Given the description of an element on the screen output the (x, y) to click on. 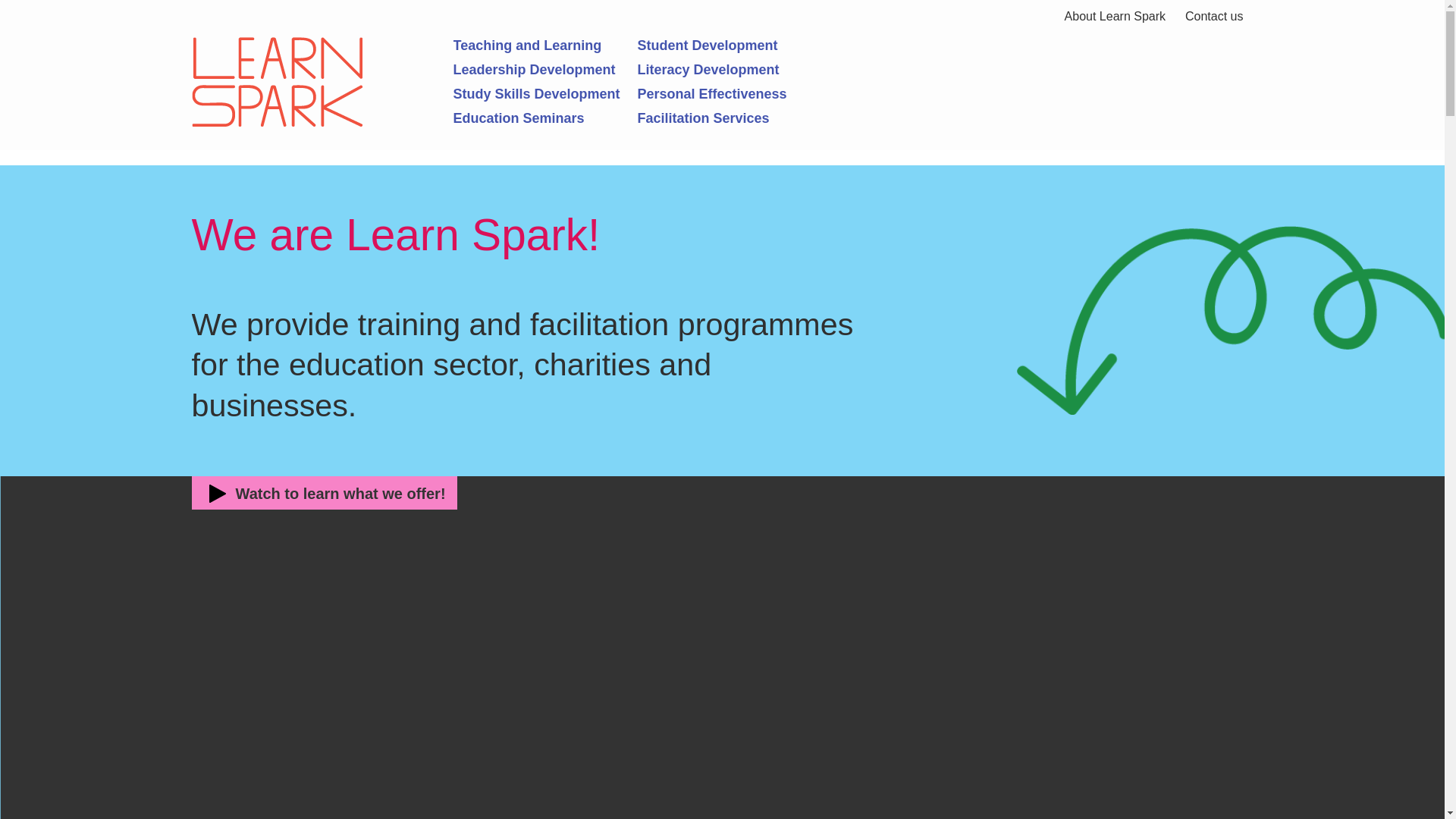
Personal Effectiveness (729, 93)
Facilitation Services (729, 118)
Teaching and Learning (545, 45)
Literacy Development (729, 69)
Contact us (1213, 16)
About Learn Spark (1114, 16)
Leadership Development (545, 69)
Student Development (729, 45)
Education Seminars (545, 118)
Study Skills Development (545, 93)
